Given the description of an element on the screen output the (x, y) to click on. 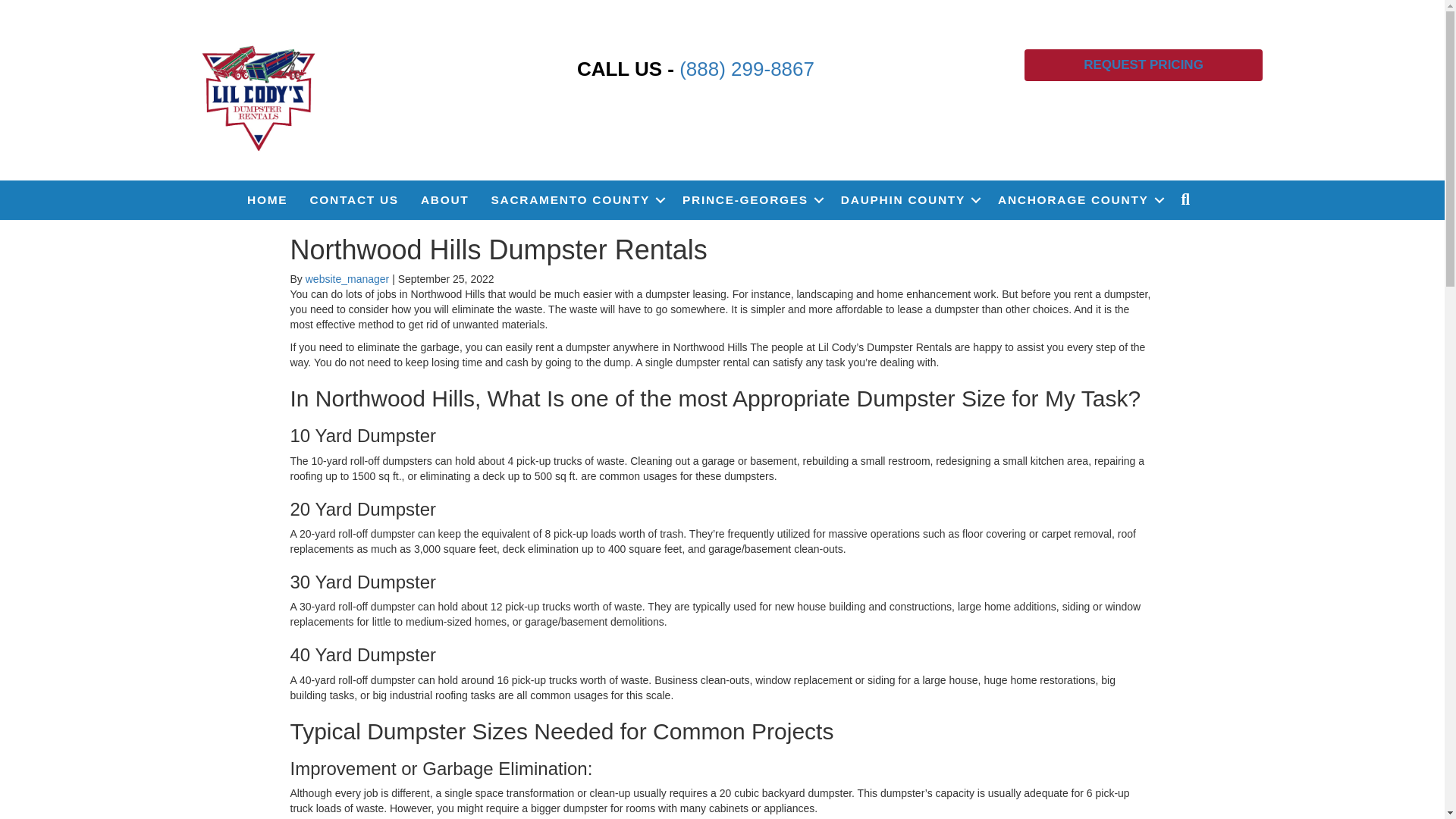
lilcodysdumpsters (258, 95)
PRINCE-GEORGES (750, 199)
REQUEST PRICING (1144, 65)
HOME (266, 199)
ANCHORAGE COUNTY (1078, 199)
DAUPHIN COUNTY (908, 199)
CONTACT US (353, 199)
SACRAMENTO COUNTY (575, 199)
ABOUT (445, 199)
Skip to content (34, 6)
